Given the description of an element on the screen output the (x, y) to click on. 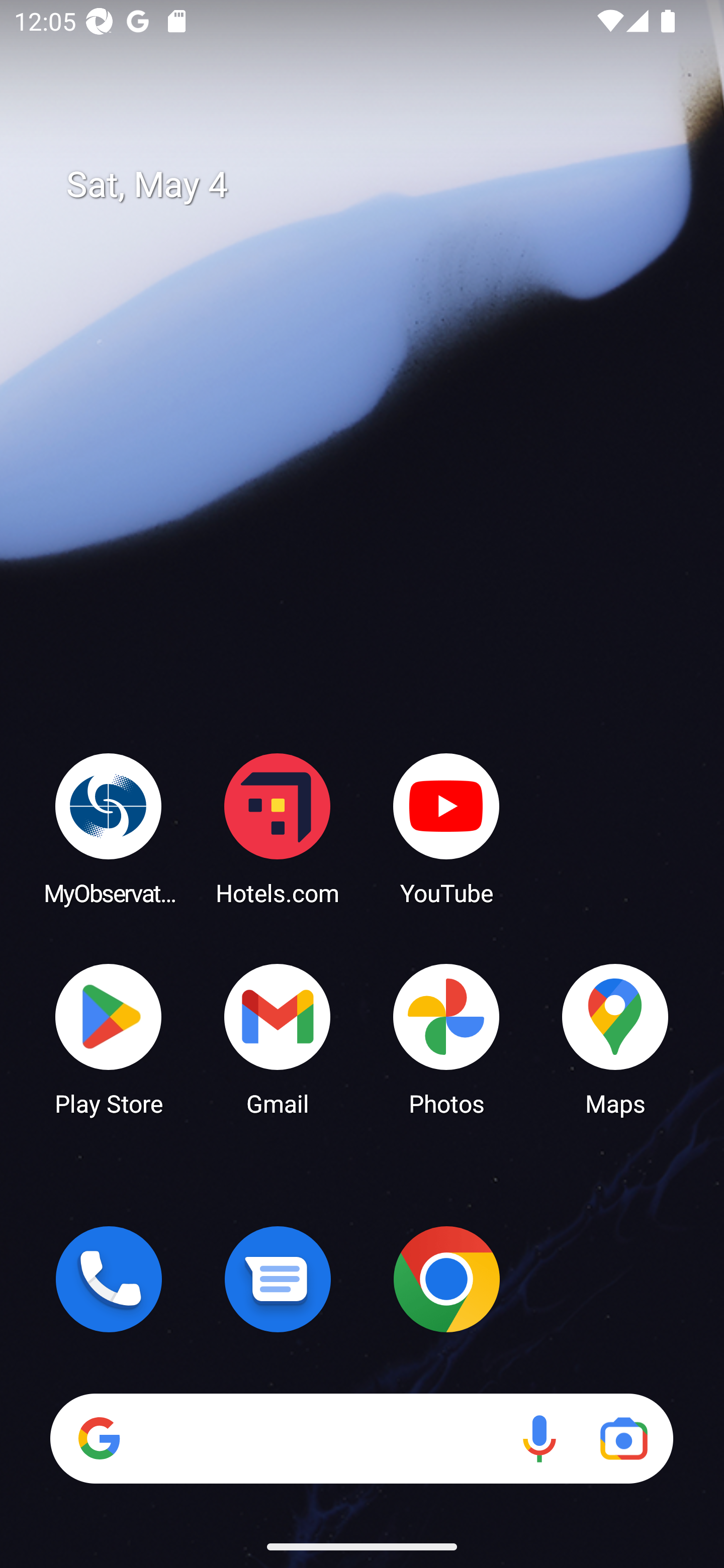
Sat, May 4 (375, 184)
MyObservatory (108, 828)
Hotels.com (277, 828)
YouTube (445, 828)
Play Store (108, 1038)
Gmail (277, 1038)
Photos (445, 1038)
Maps (615, 1038)
Phone (108, 1279)
Messages (277, 1279)
Chrome (446, 1279)
Search Voice search Google Lens (361, 1438)
Voice search (539, 1438)
Google Lens (623, 1438)
